Given the description of an element on the screen output the (x, y) to click on. 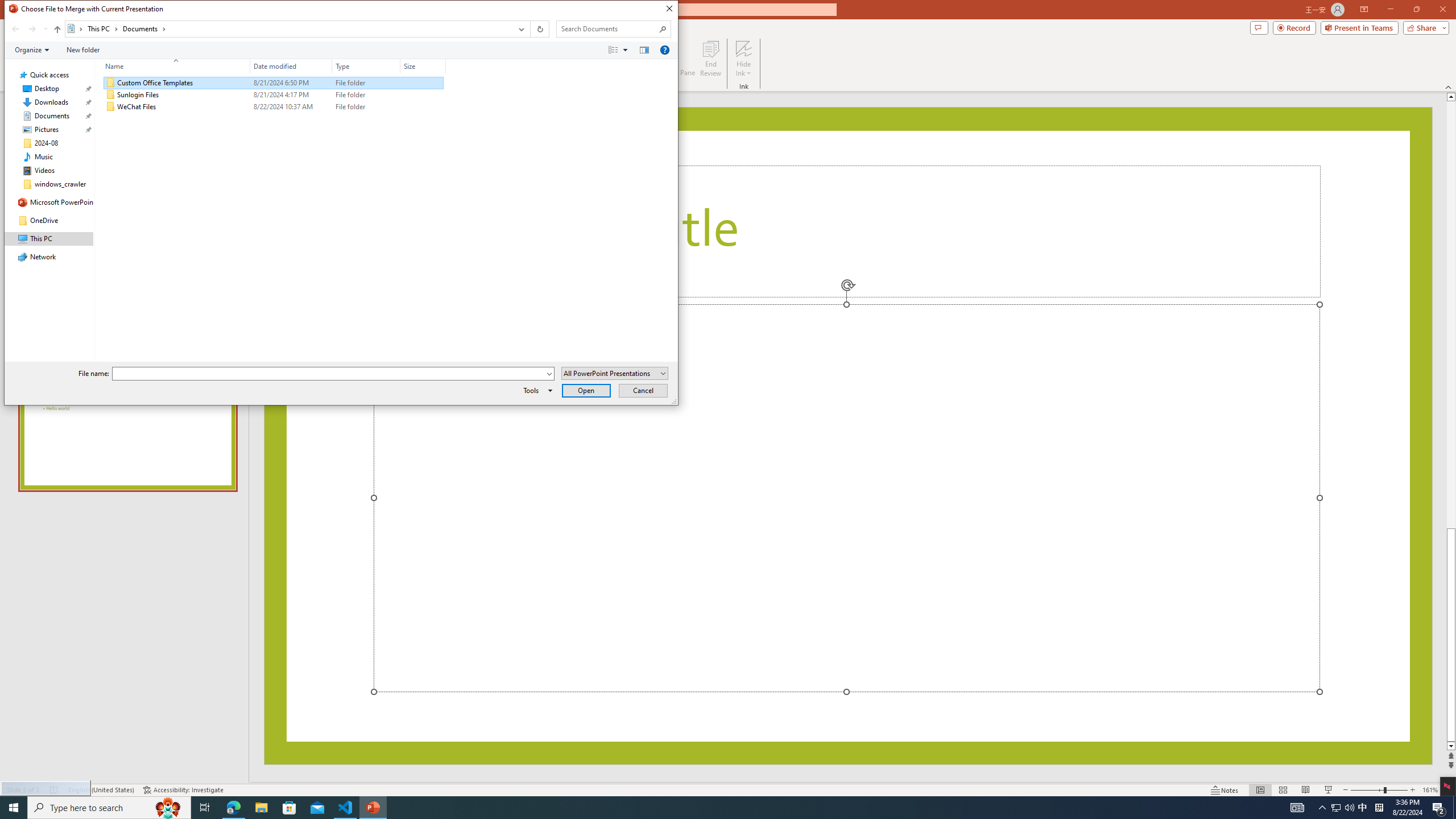
Date modified (290, 65)
Documents (144, 28)
Custom Office Templates (273, 82)
Search Box (607, 28)
Organize (31, 49)
Up to "This PC" (Alt + Up Arrow) (57, 29)
Tools (535, 390)
Forward (Alt + Right Arrow) (31, 28)
Previous Locations (520, 28)
